Given the description of an element on the screen output the (x, y) to click on. 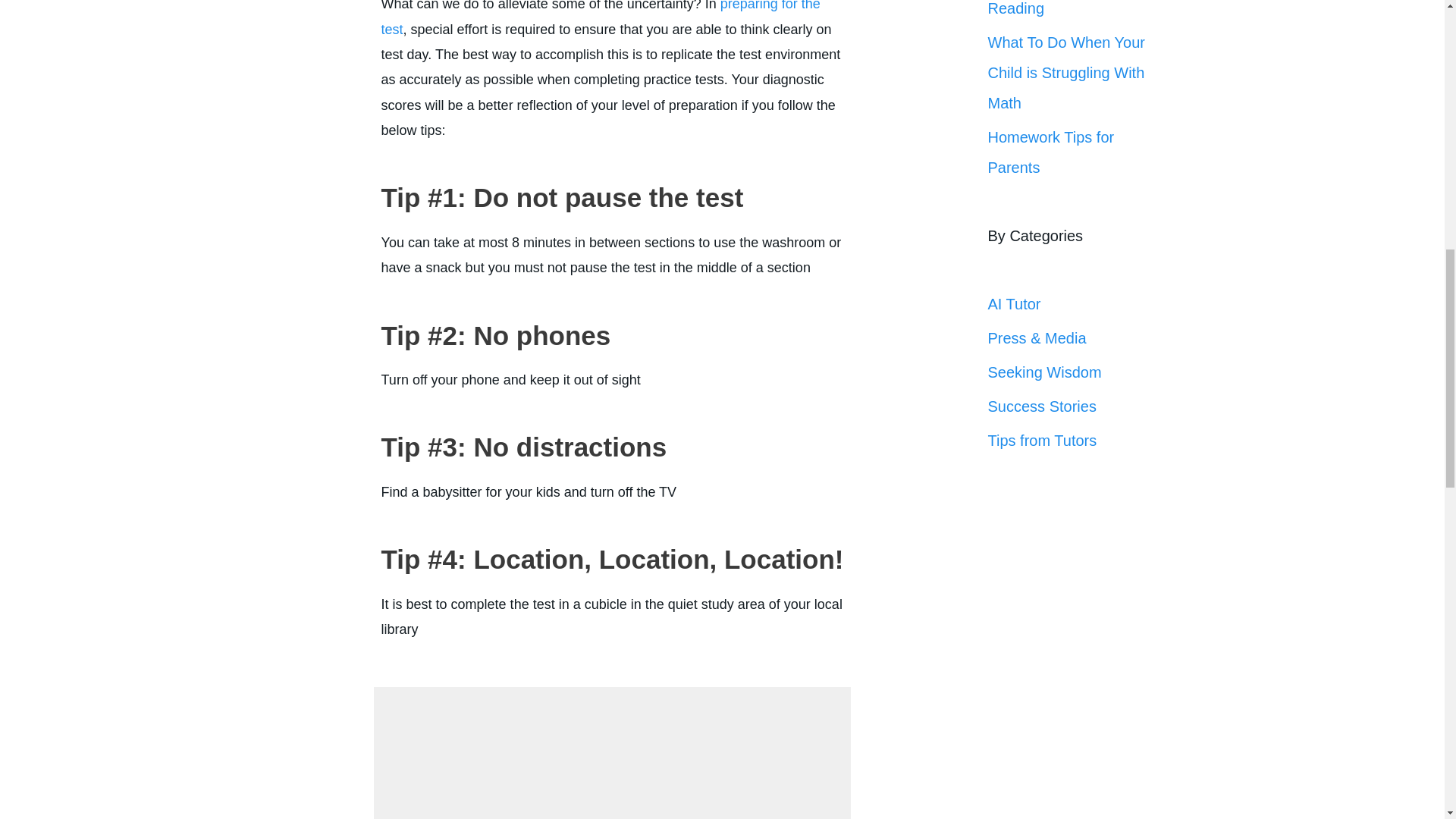
What To Do When Your Child is Struggling With Math (1065, 72)
What To Do When Your Child is Struggling With Reading (1065, 8)
preparing for the test (601, 18)
